Given the description of an element on the screen output the (x, y) to click on. 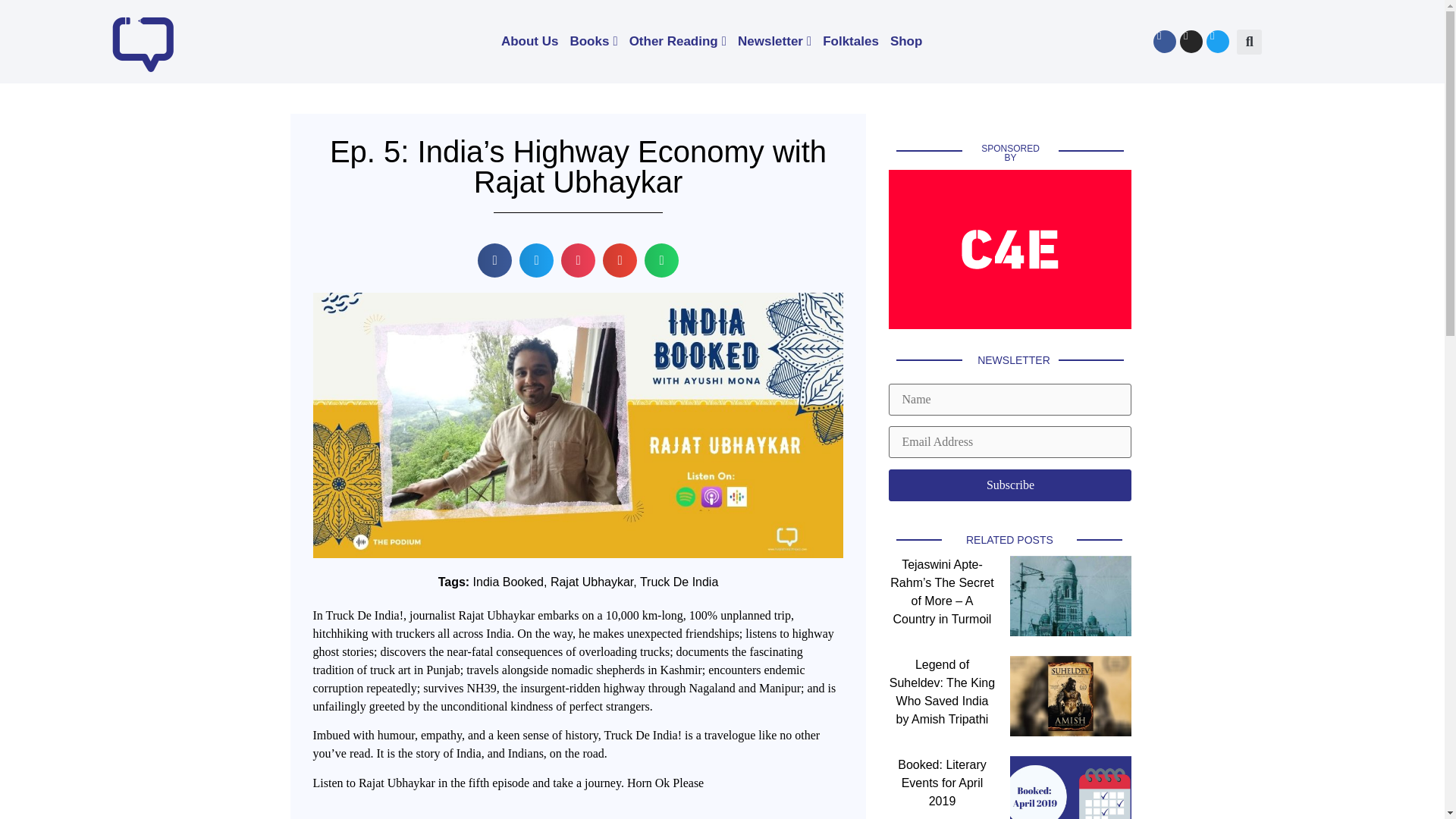
Folktales (850, 41)
Newsletter (774, 41)
Shop (906, 41)
Books (593, 41)
About Us (529, 41)
Subscribe (1009, 485)
Other Reading (677, 41)
